Given the description of an element on the screen output the (x, y) to click on. 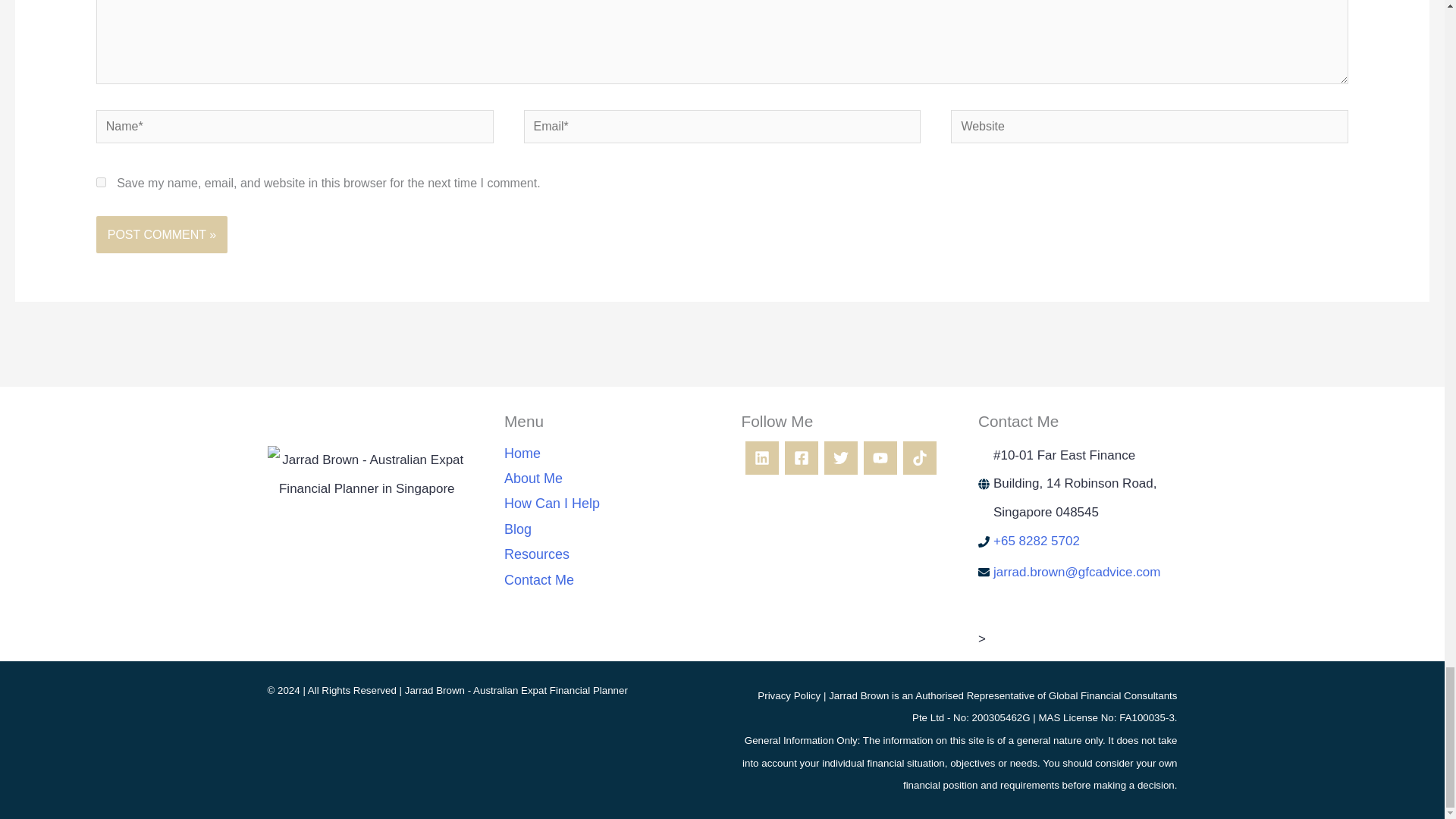
yes (101, 182)
